Given the description of an element on the screen output the (x, y) to click on. 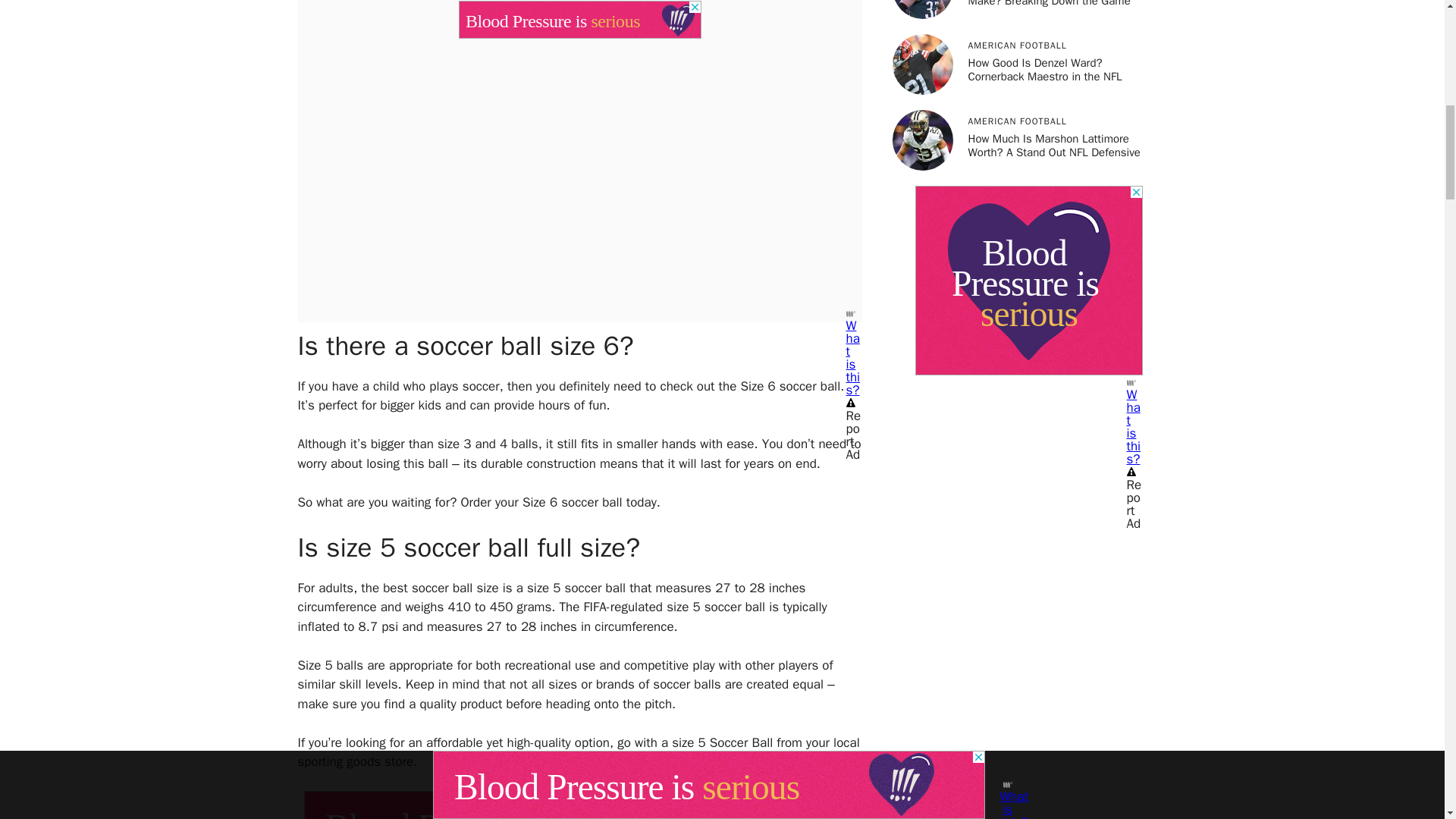
3rd party ad content (579, 805)
3rd party ad content (1027, 280)
3rd party ad content (579, 12)
